Given the description of an element on the screen output the (x, y) to click on. 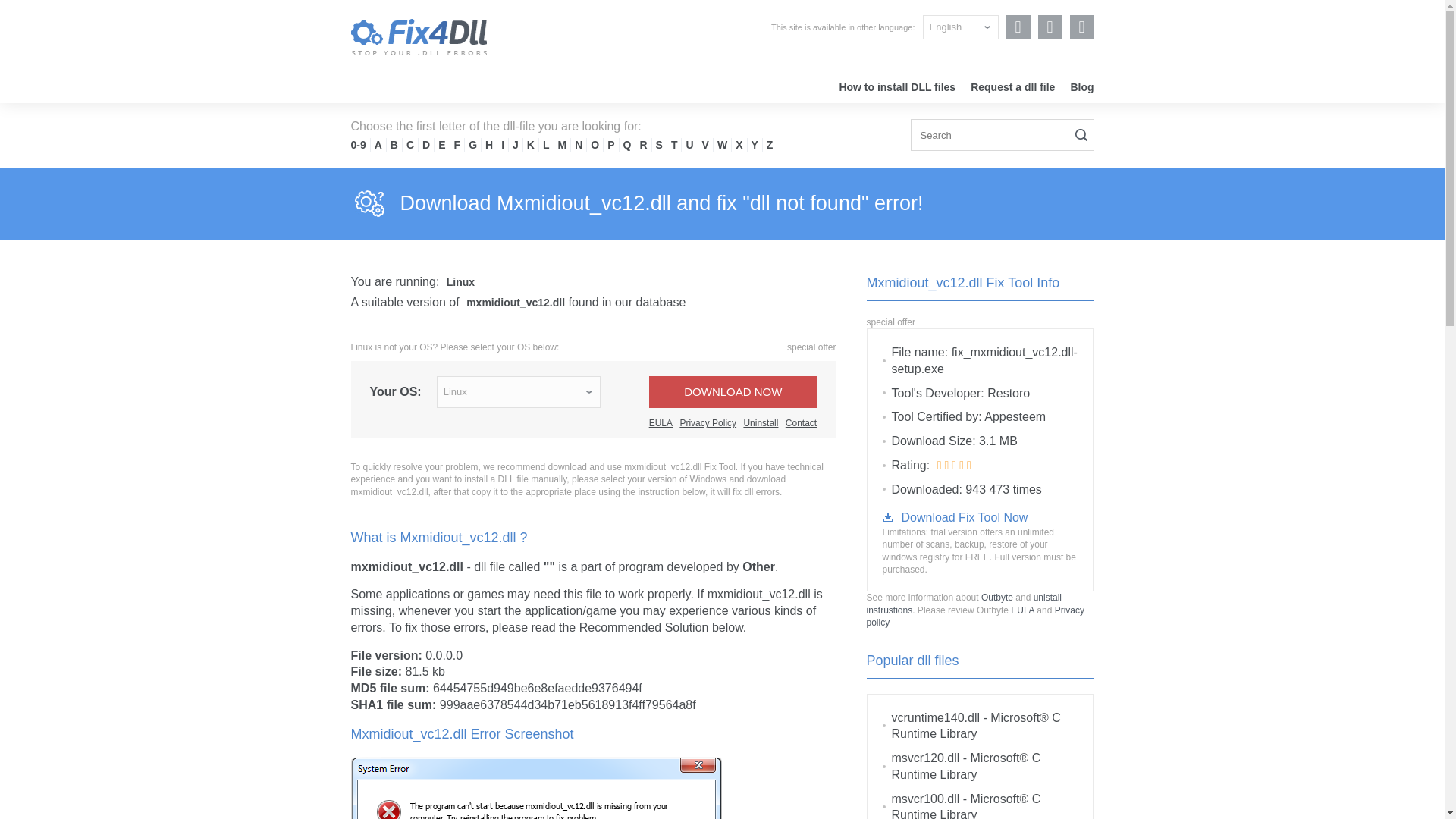
Fix4Dll.com - stop your .dll errors (418, 36)
Blog (1081, 87)
Request a dll file (1012, 87)
0-9 (357, 144)
How to install DLL files (896, 87)
DOWNLOAD NOW (732, 391)
special offer (811, 346)
